Given the description of an element on the screen output the (x, y) to click on. 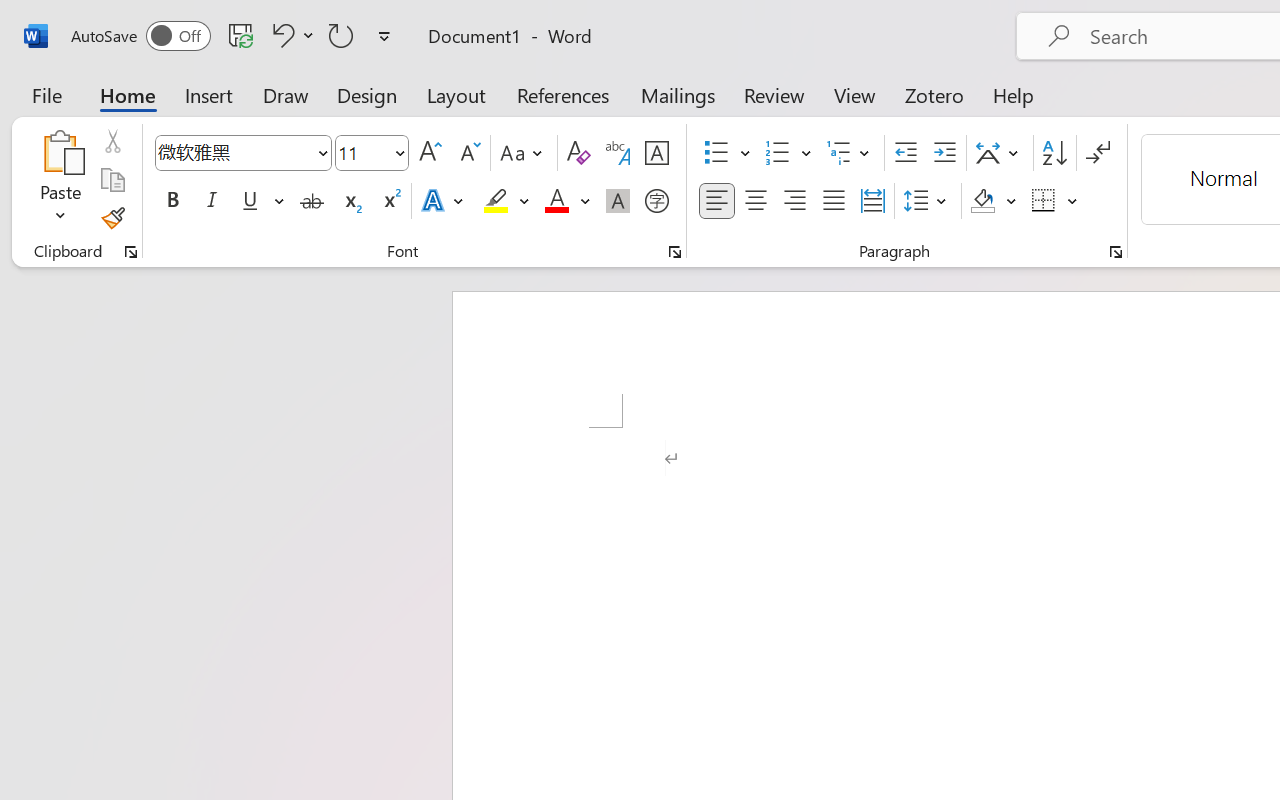
Repeat Style (341, 35)
